Given the description of an element on the screen output the (x, y) to click on. 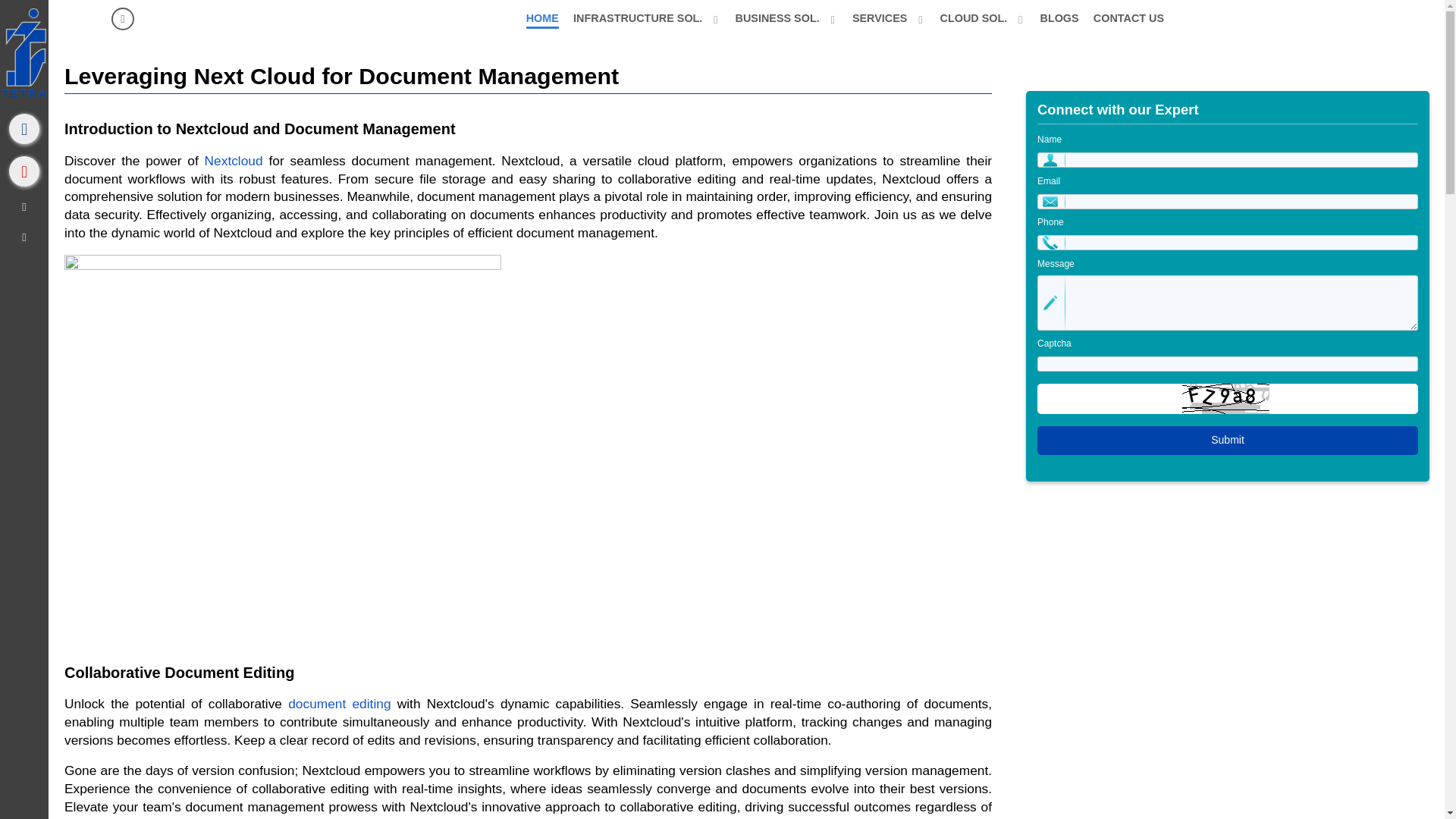
HOME (541, 18)
INFRASTRUCTURE SOL. (646, 17)
HOME (541, 18)
BUSINESS SOL. (786, 17)
BUSINESS SOL. (786, 17)
Submit (1227, 440)
INFRASTRUCTURE SOL. (646, 17)
SERVICES (888, 17)
